Given the description of an element on the screen output the (x, y) to click on. 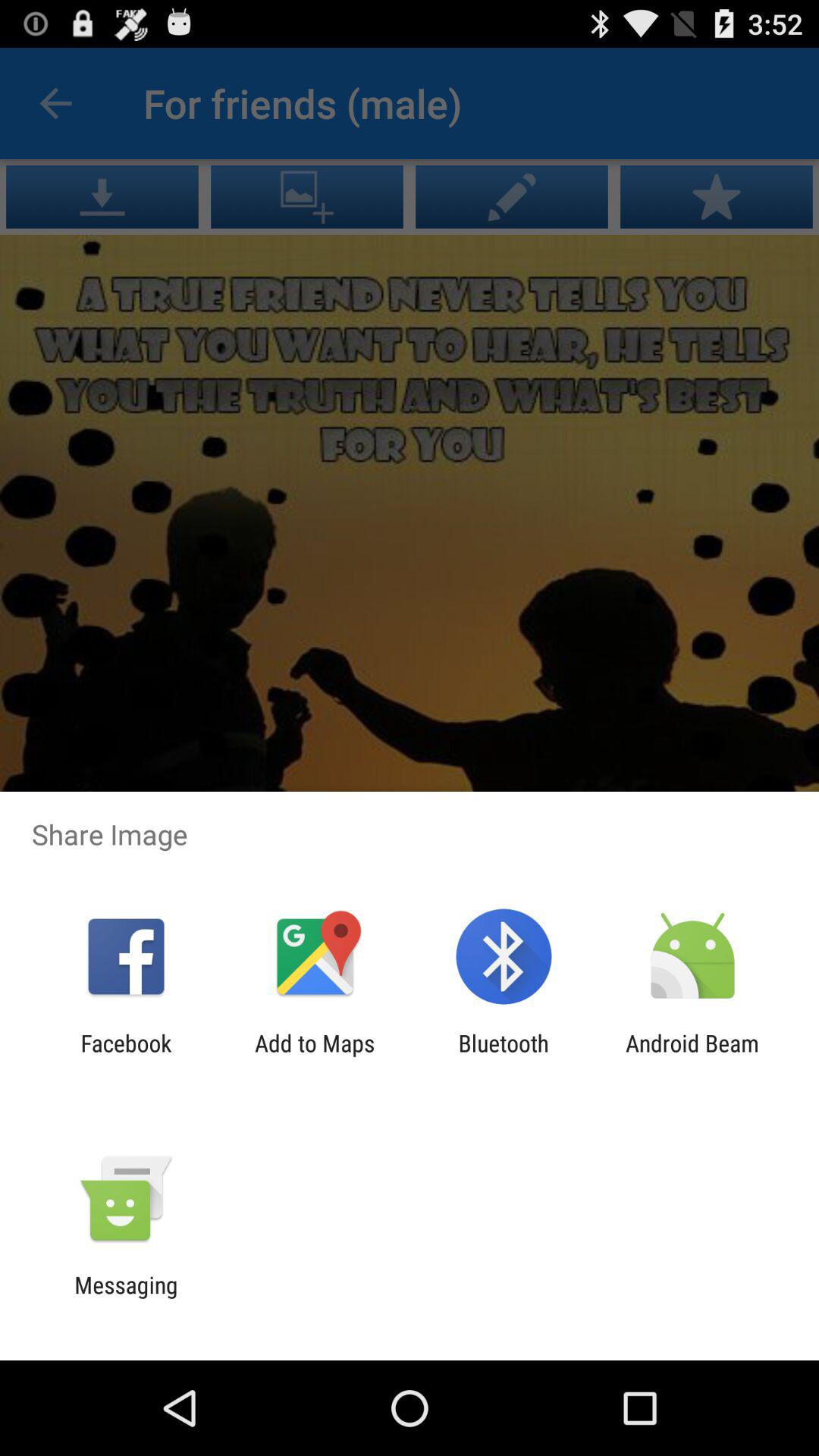
launch icon to the right of facebook (314, 1056)
